Given the description of an element on the screen output the (x, y) to click on. 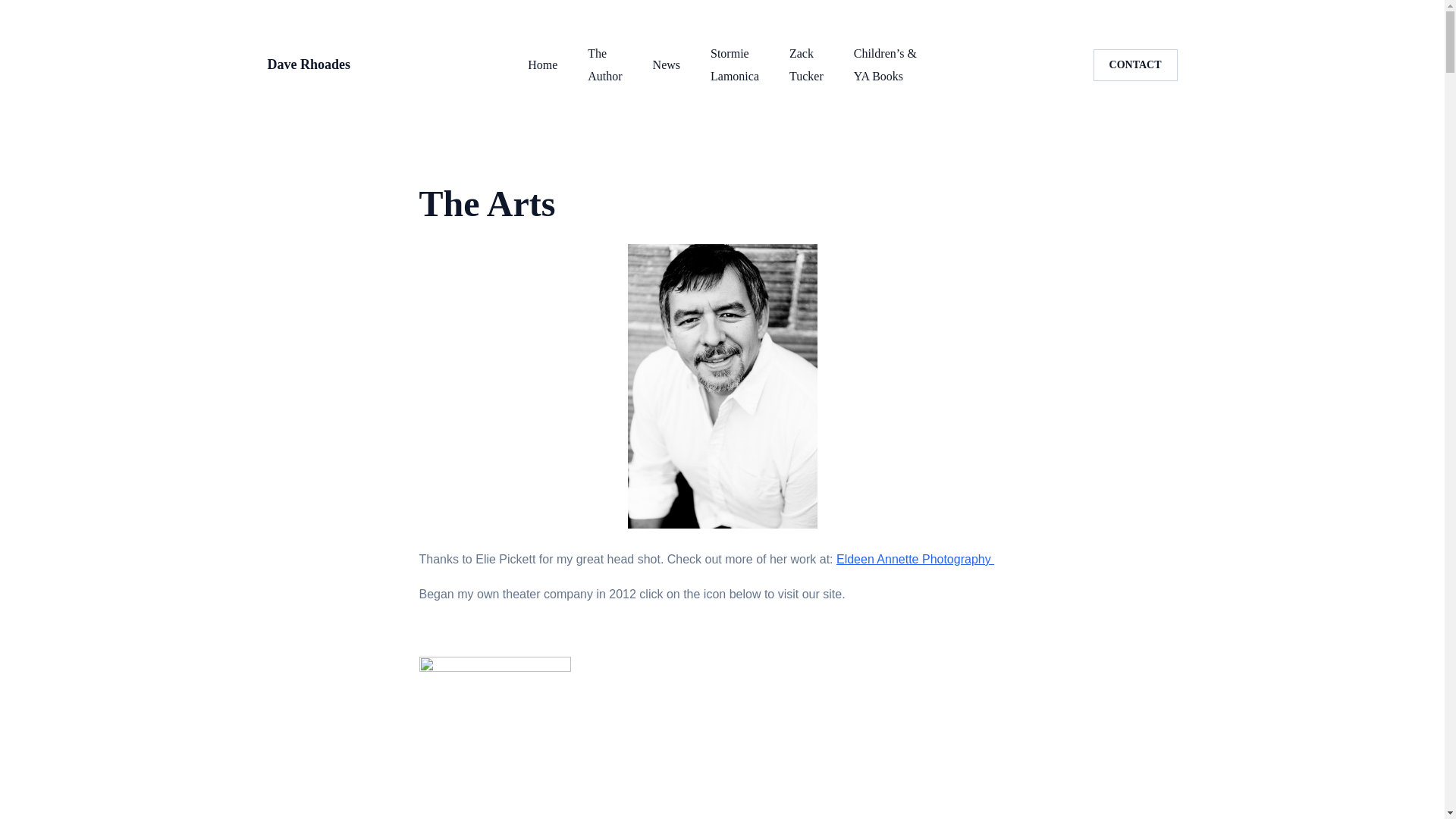
CONTACT (734, 64)
Call Back Theater Company (1135, 65)
Eldeen Annette Photography  (494, 667)
Dave Rhoades (914, 558)
callback200 (308, 64)
Home (494, 735)
News (542, 65)
